Given the description of an element on the screen output the (x, y) to click on. 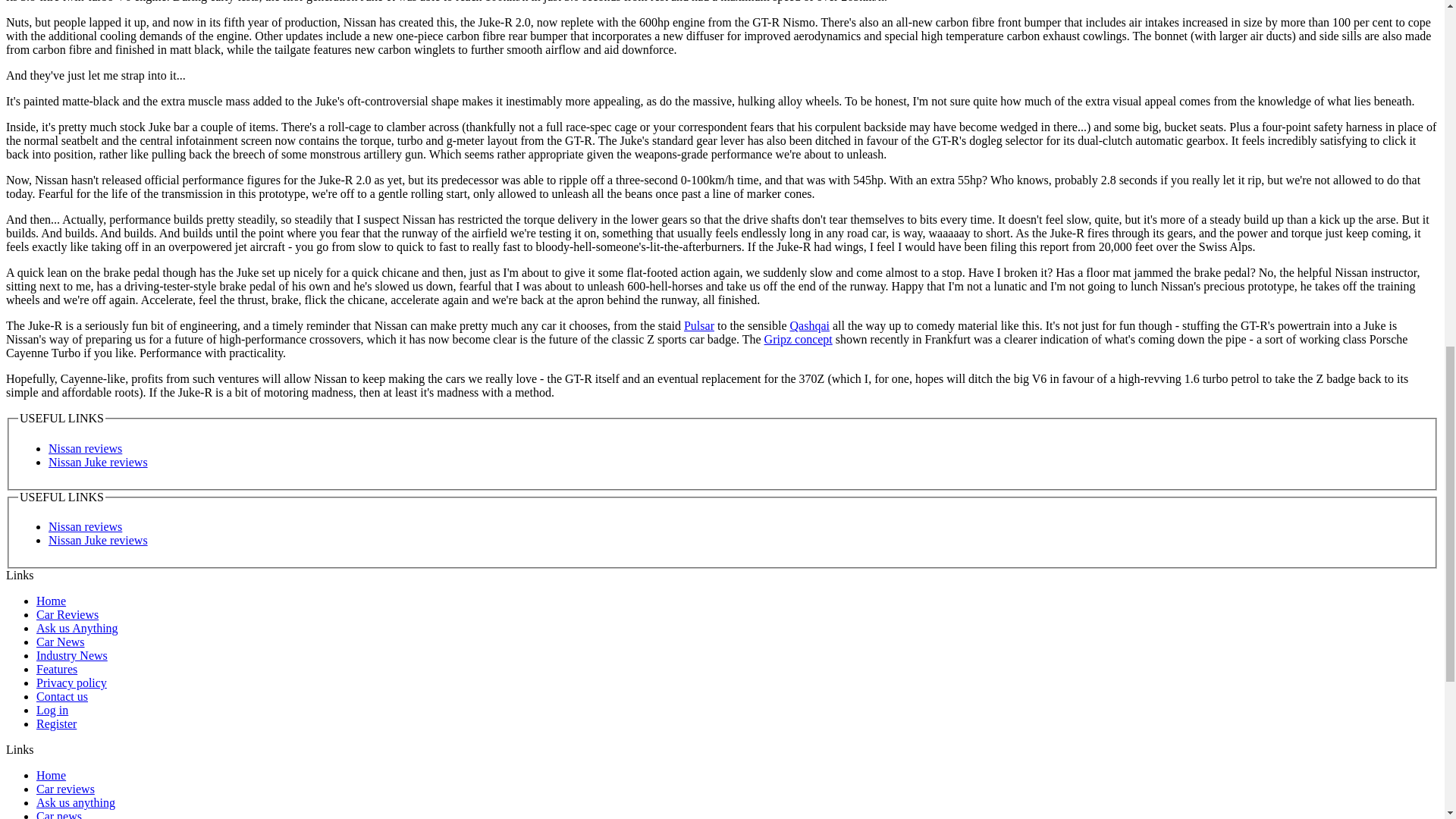
Qashqai (809, 325)
Gripz concept (798, 338)
Pulsar (699, 325)
